Given the description of an element on the screen output the (x, y) to click on. 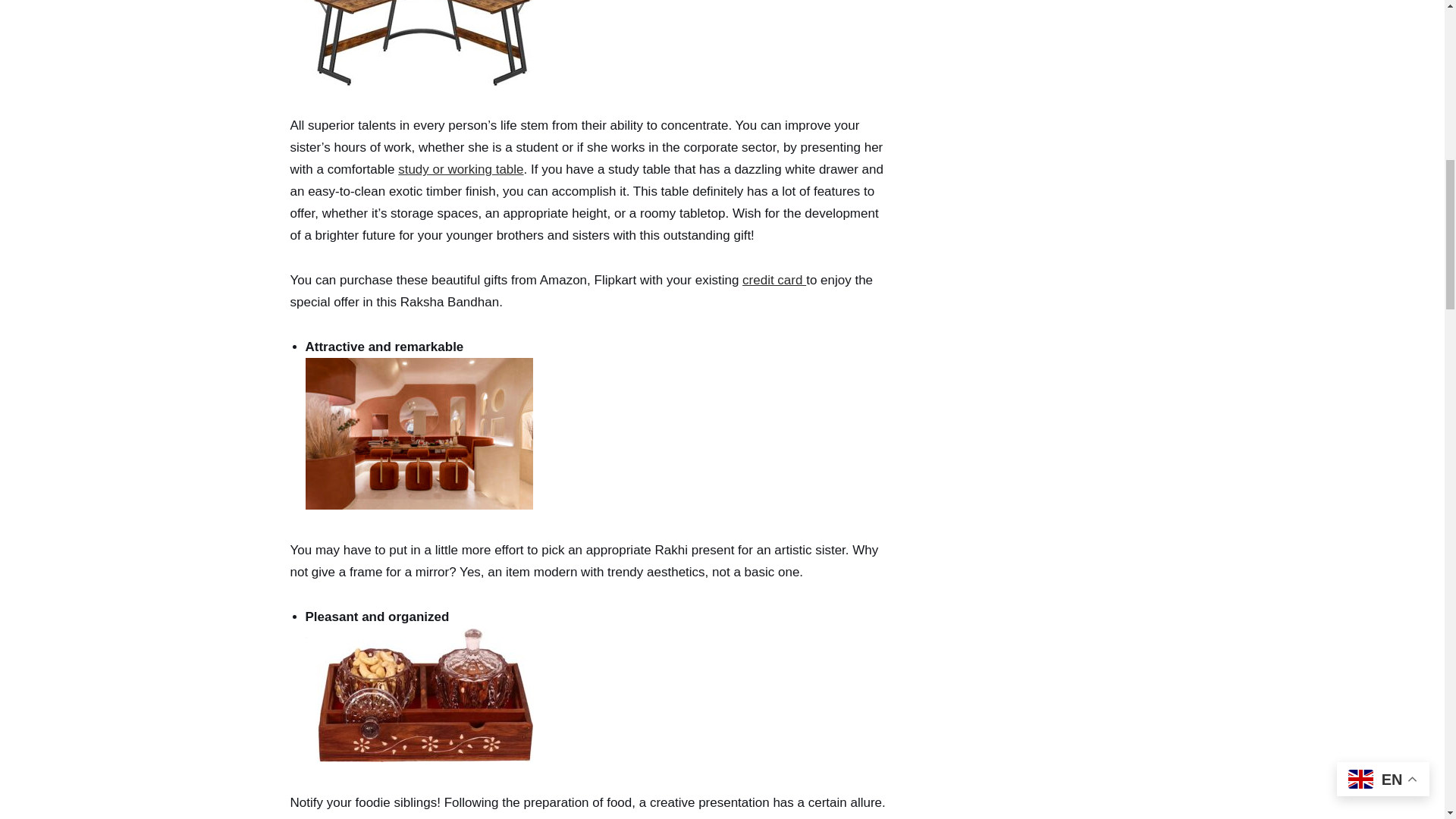
wooden tray (789, 818)
credit card (774, 279)
study or working table (459, 169)
